Given the description of an element on the screen output the (x, y) to click on. 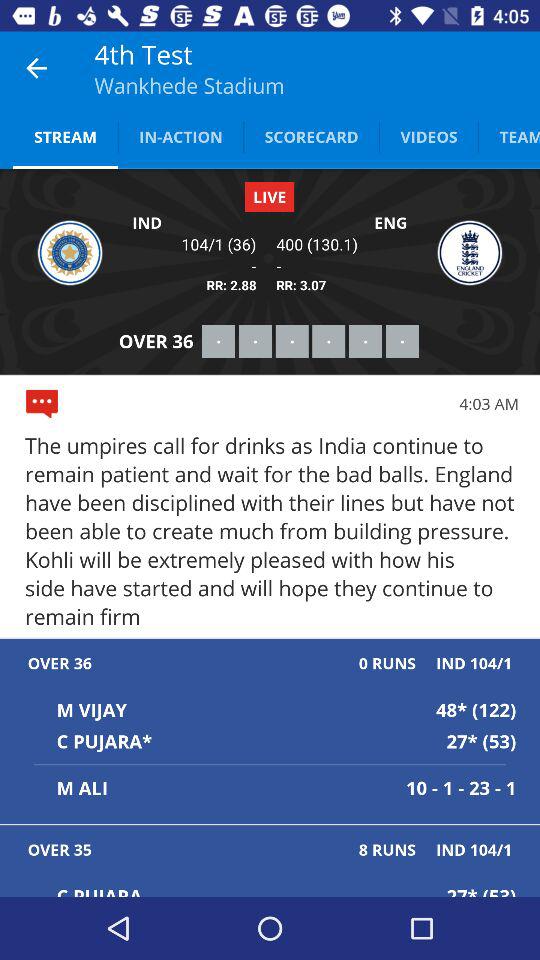
open the stream (65, 136)
